Given the description of an element on the screen output the (x, y) to click on. 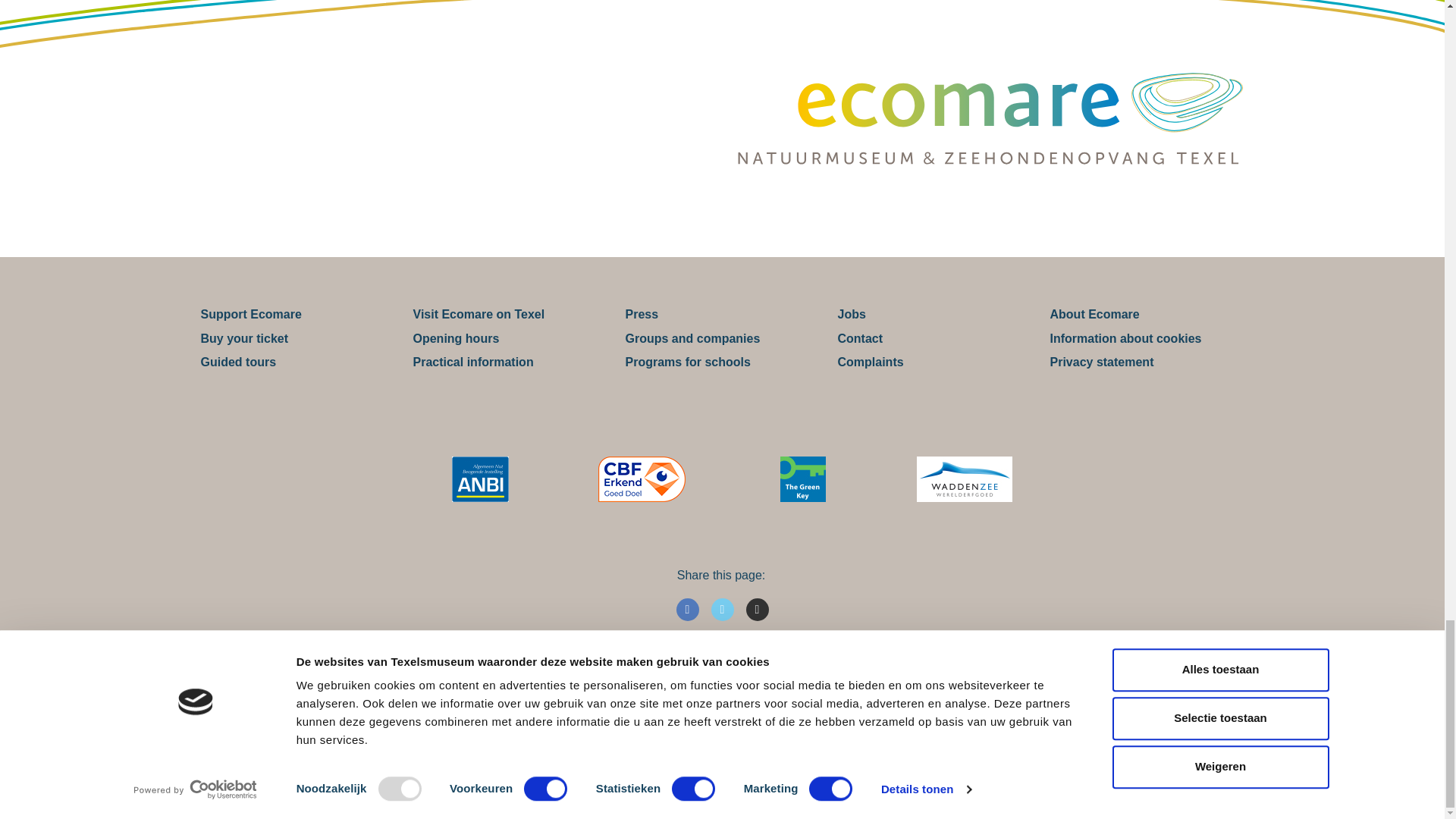
TGK (802, 479)
CBF (641, 479)
Waddenzee Erfgoed (964, 479)
ANBI (480, 479)
Share this page: Facebook (687, 609)
